Given the description of an element on the screen output the (x, y) to click on. 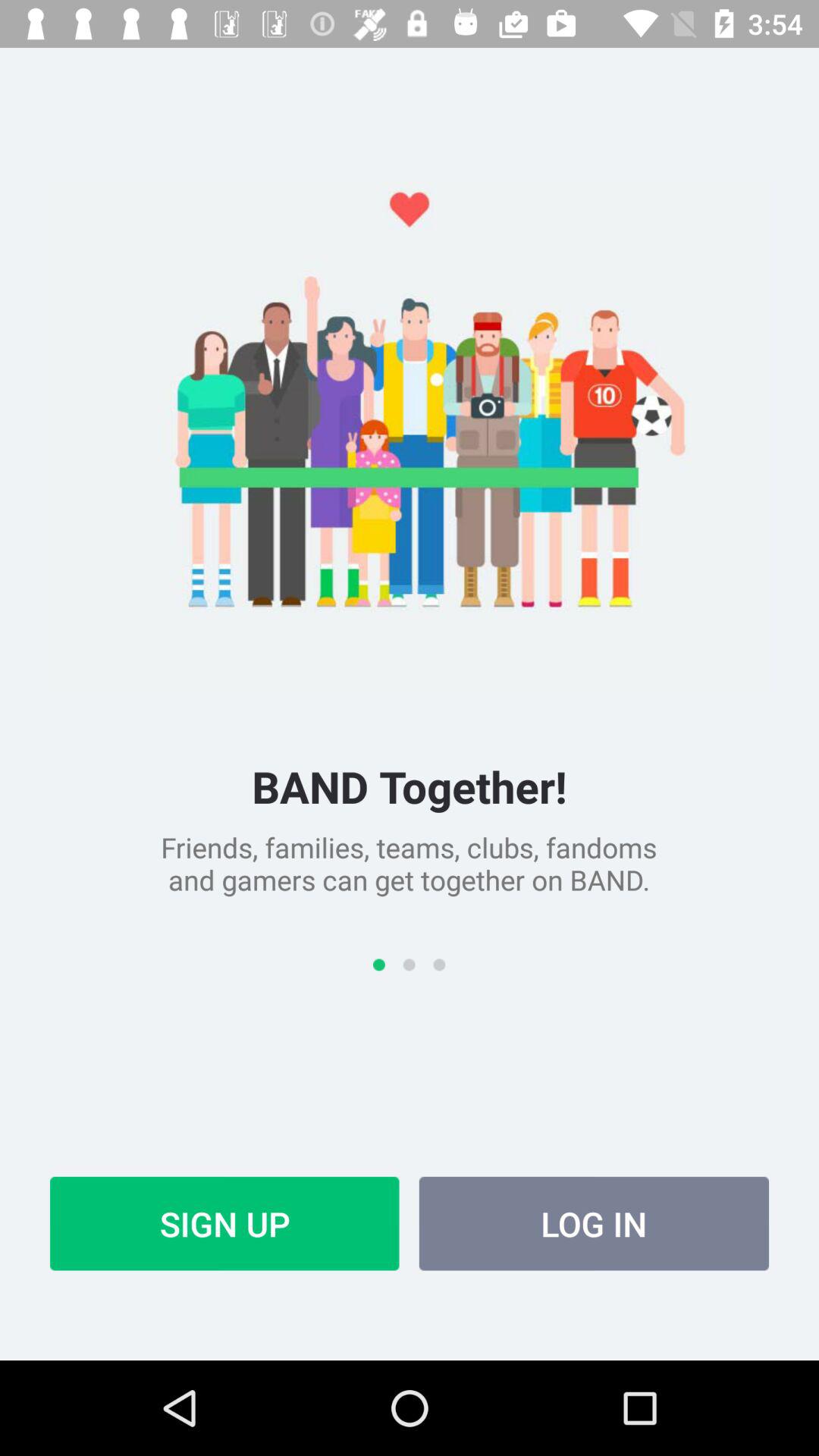
choose item next to sign up icon (593, 1223)
